Given the description of an element on the screen output the (x, y) to click on. 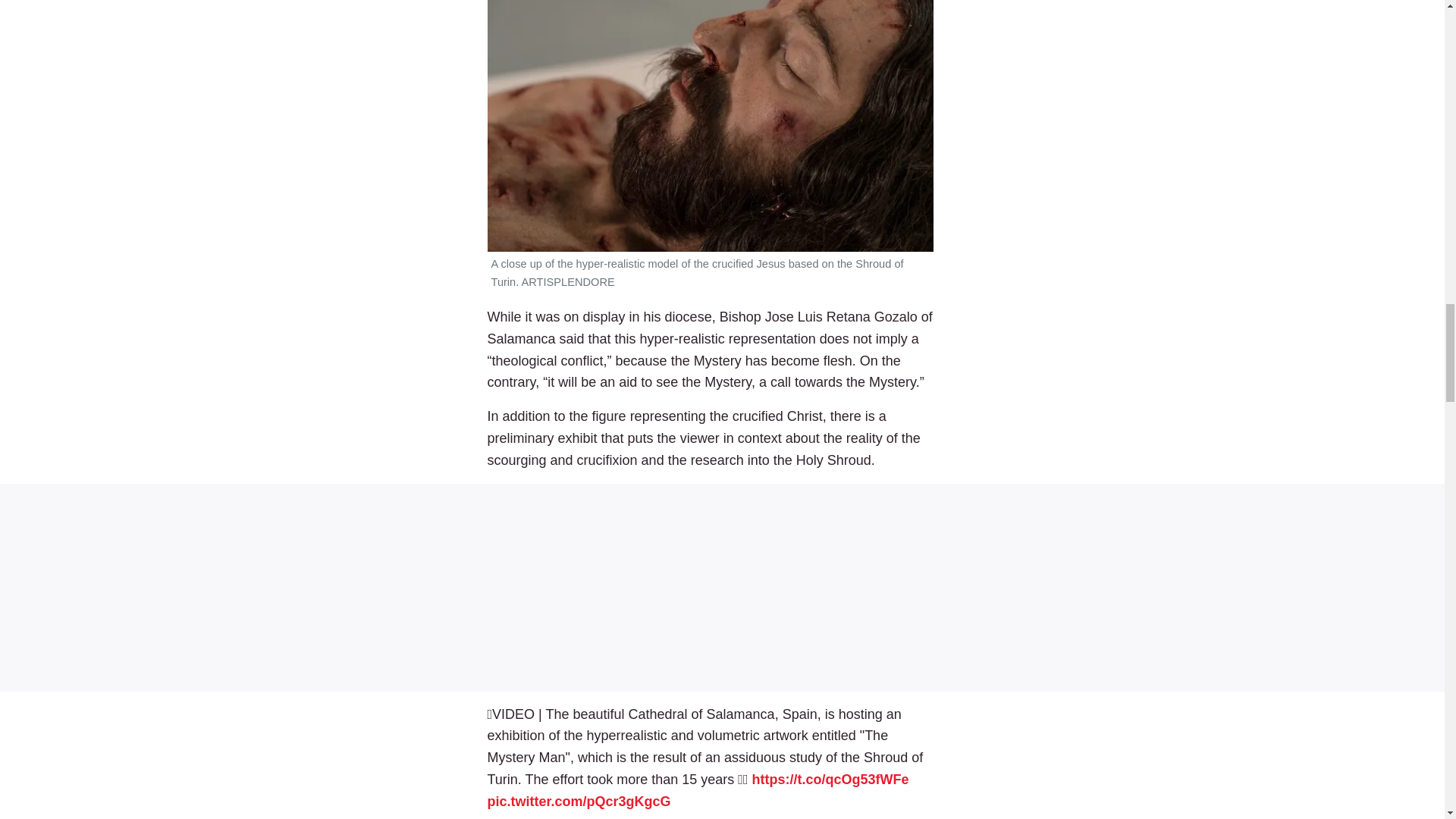
3rd party ad content (721, 587)
